Given the description of an element on the screen output the (x, y) to click on. 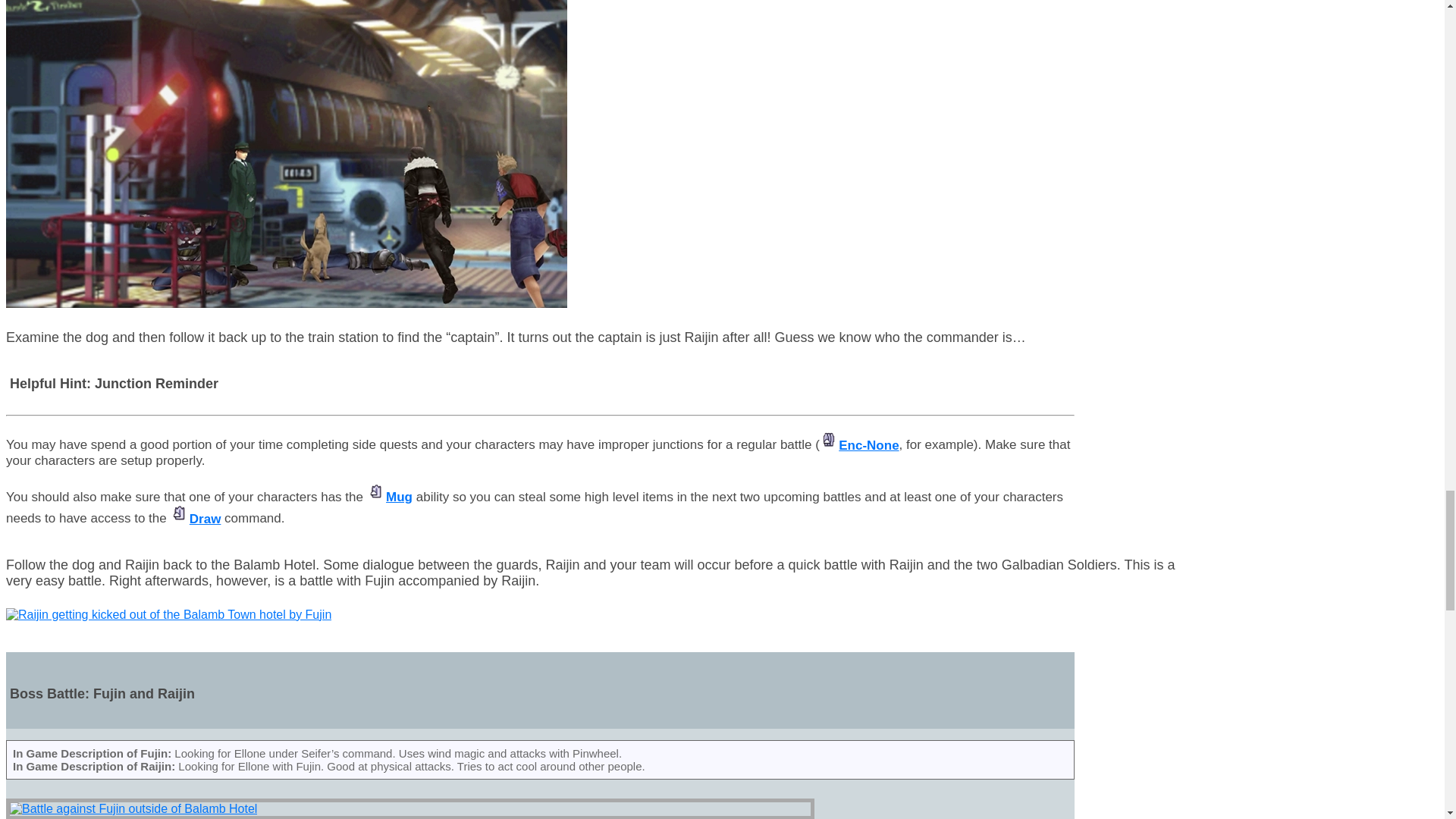
Draw (195, 518)
Enc-None (859, 445)
Mug (389, 496)
